Given the description of an element on the screen output the (x, y) to click on. 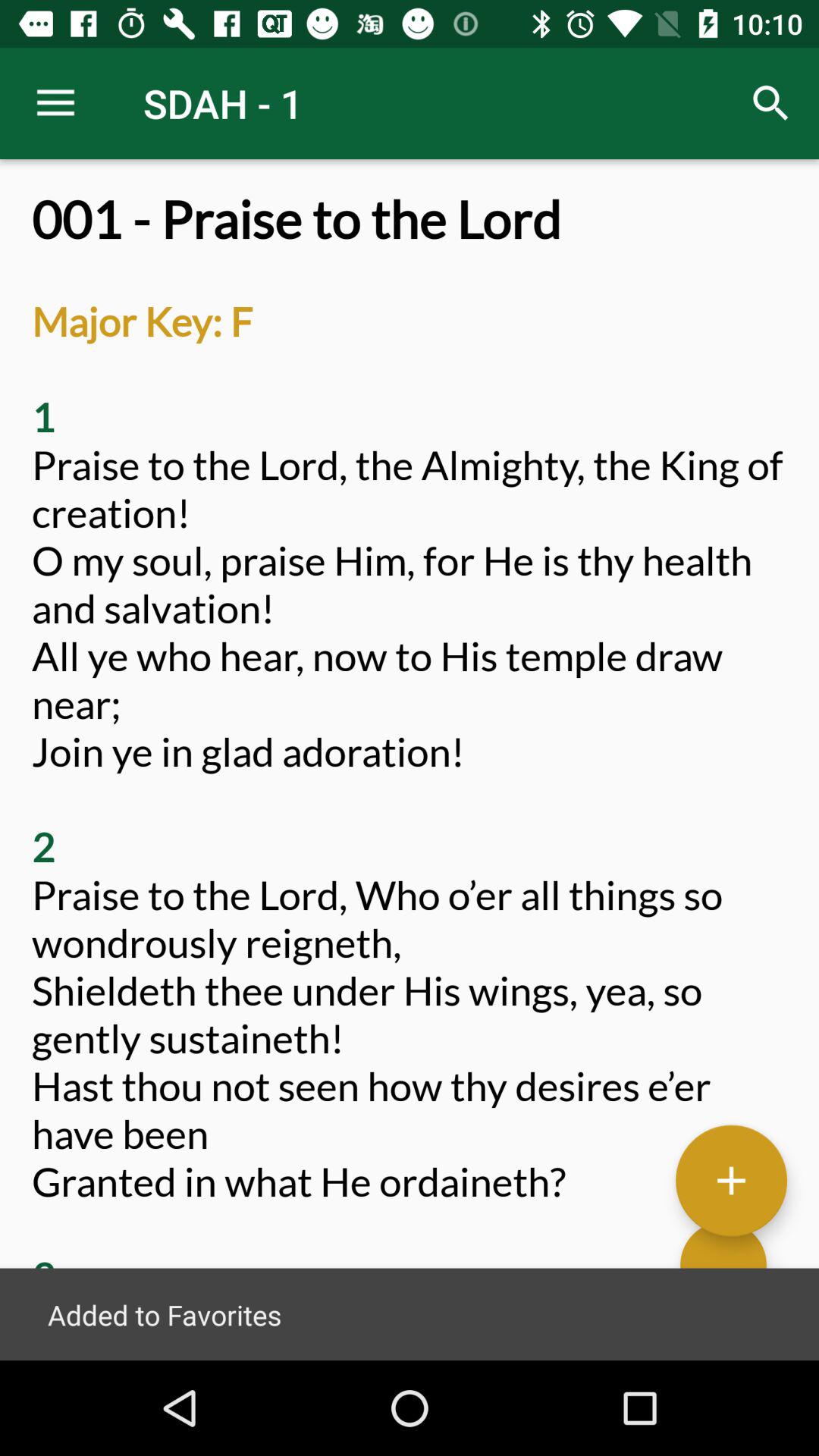
add a note (731, 1179)
